Given the description of an element on the screen output the (x, y) to click on. 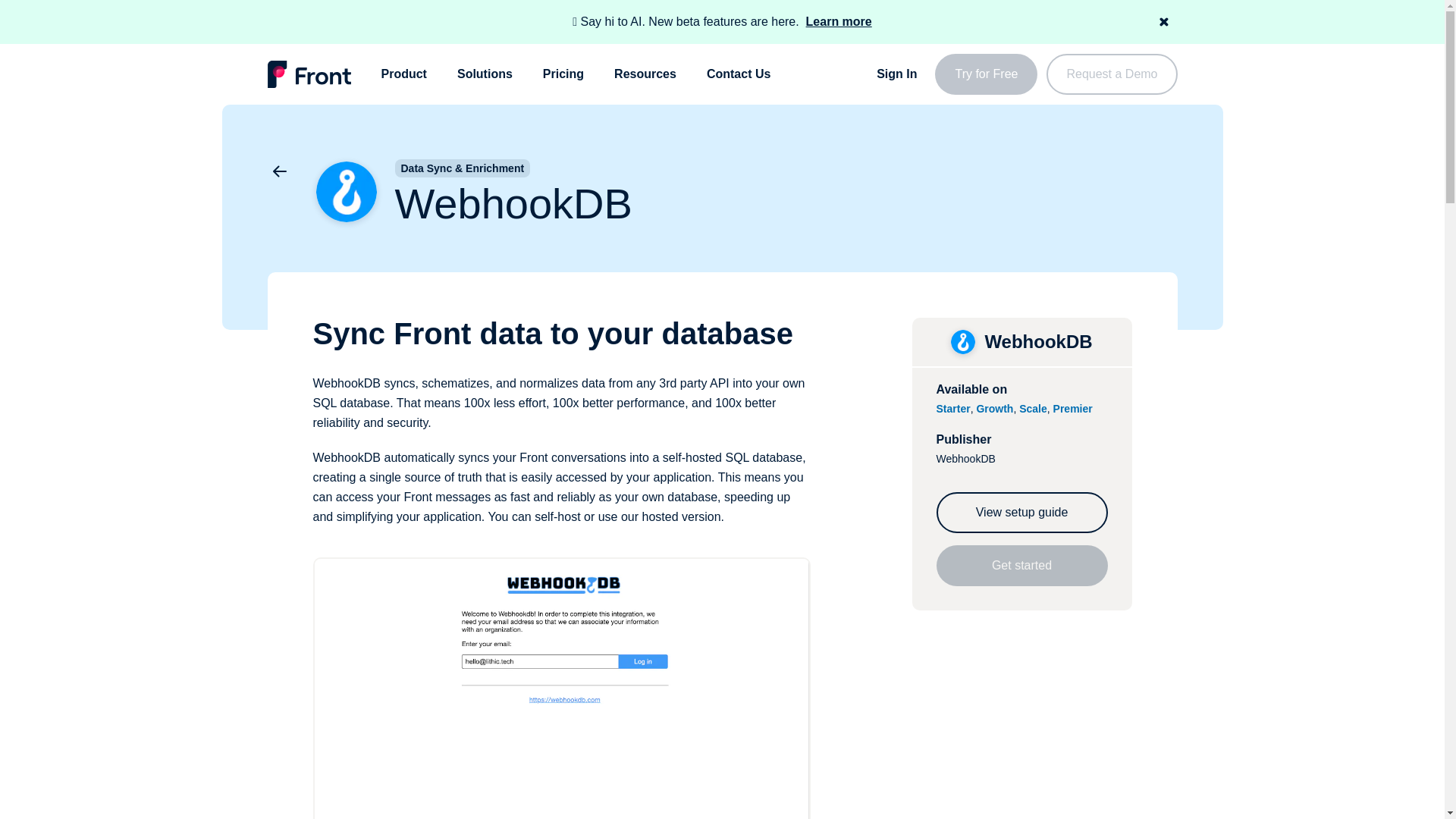
Front Homepage (308, 73)
Learn more (839, 21)
Solutions (484, 74)
Resources (645, 74)
Pricing (563, 74)
Product (403, 74)
